Given the description of an element on the screen output the (x, y) to click on. 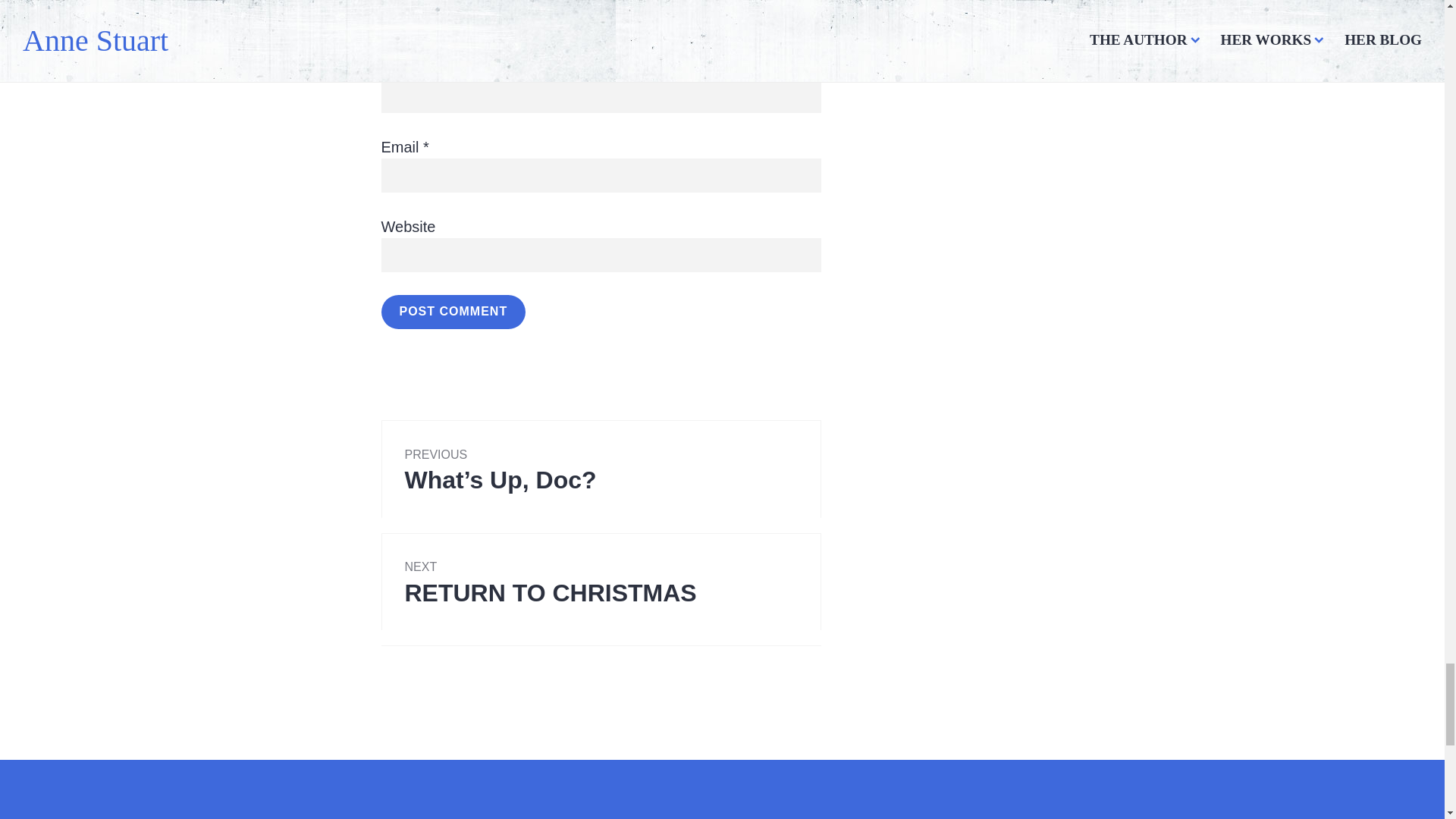
Post Comment (452, 311)
